Given the description of an element on the screen output the (x, y) to click on. 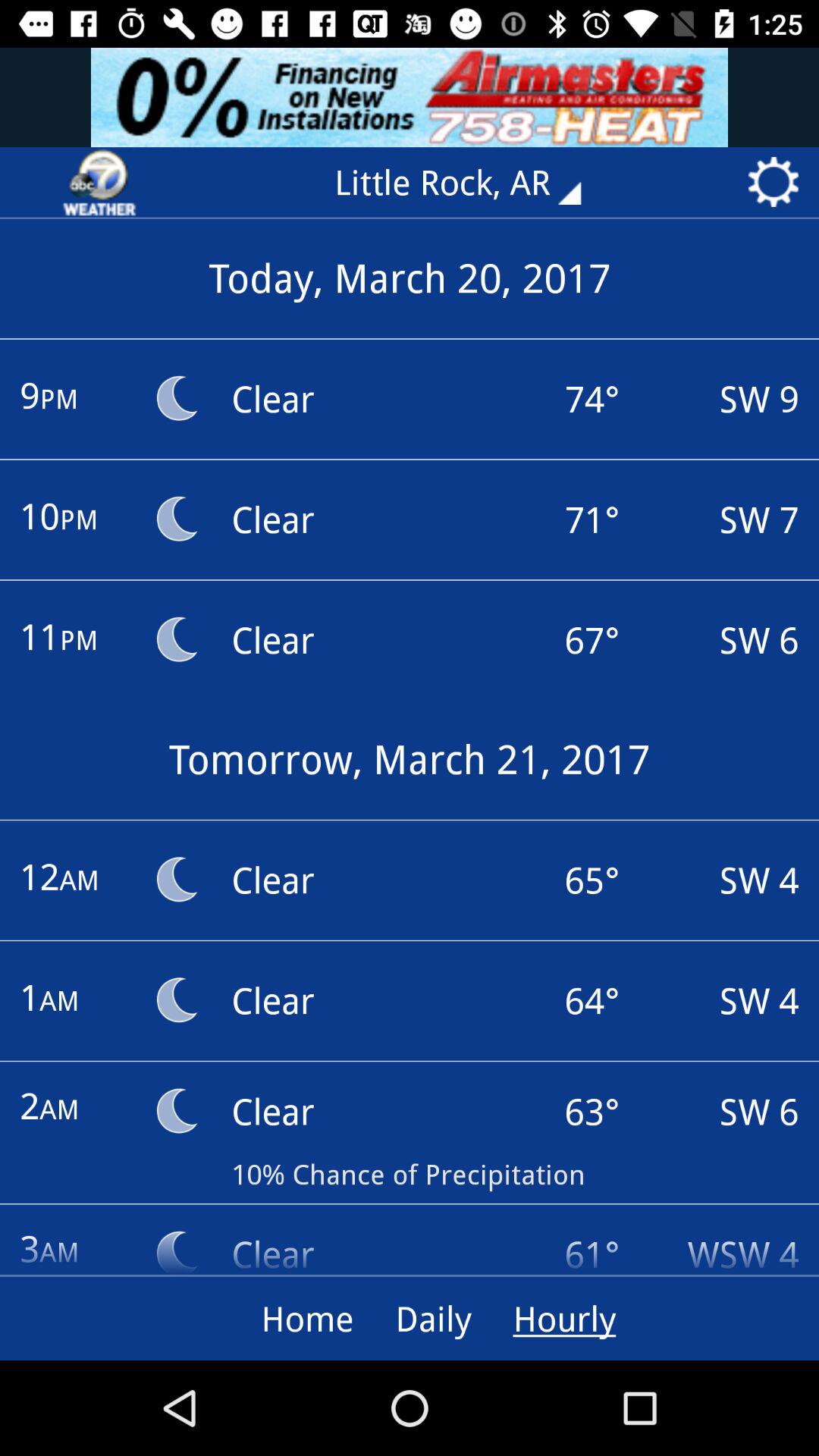
check weather (99, 182)
